Given the description of an element on the screen output the (x, y) to click on. 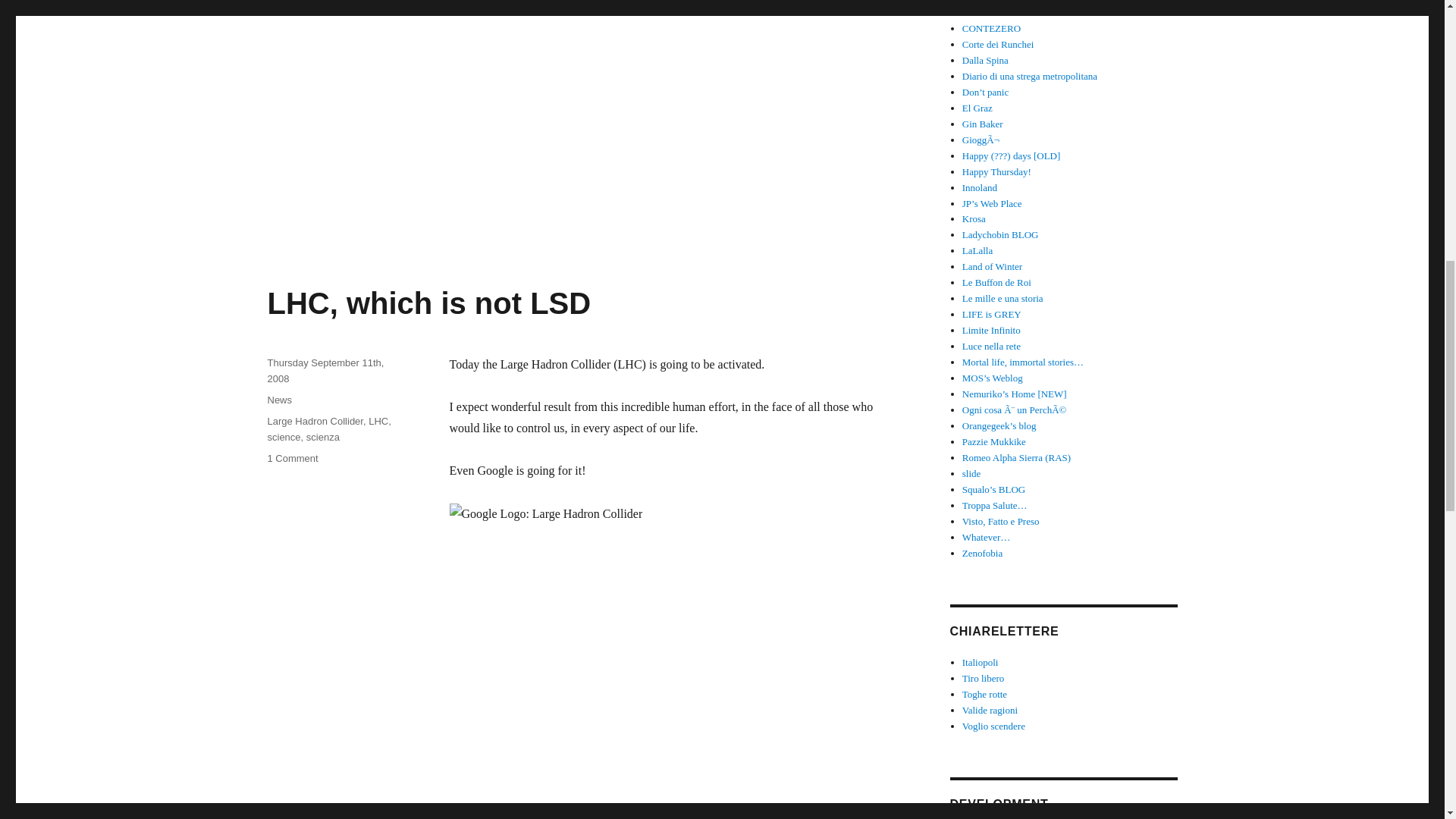
Il blog di Eflamma (993, 12)
News (291, 458)
Thursday September 11th, 2008 (279, 399)
LHC, which is not LSD (325, 370)
Il BLOG del Graz! (428, 303)
LHC (977, 107)
Large Hadron Collider (378, 420)
Il BLOG del Krosa! (314, 420)
Il blog di Rachel Lynn (973, 218)
science (1011, 155)
scienza (282, 437)
